Given the description of an element on the screen output the (x, y) to click on. 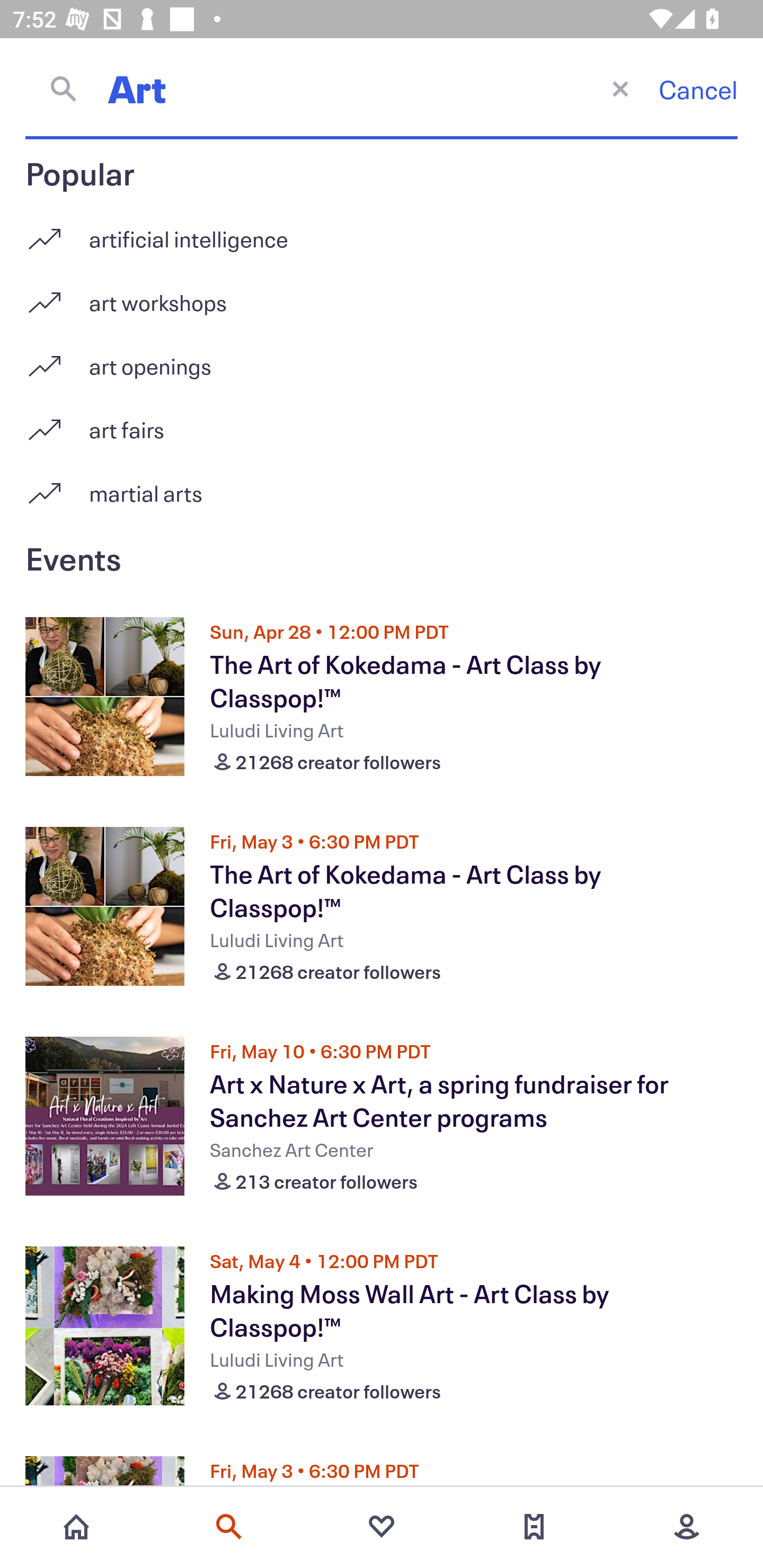
Art Close current screen Cancel (381, 88)
Close current screen (620, 88)
Cancel (697, 89)
artificial intelligence (381, 231)
art workshops (381, 295)
art openings (381, 358)
art fairs (381, 422)
martial arts (381, 492)
Home (76, 1526)
Search events (228, 1526)
Favorites (381, 1526)
Tickets (533, 1526)
More (686, 1526)
